Given the description of an element on the screen output the (x, y) to click on. 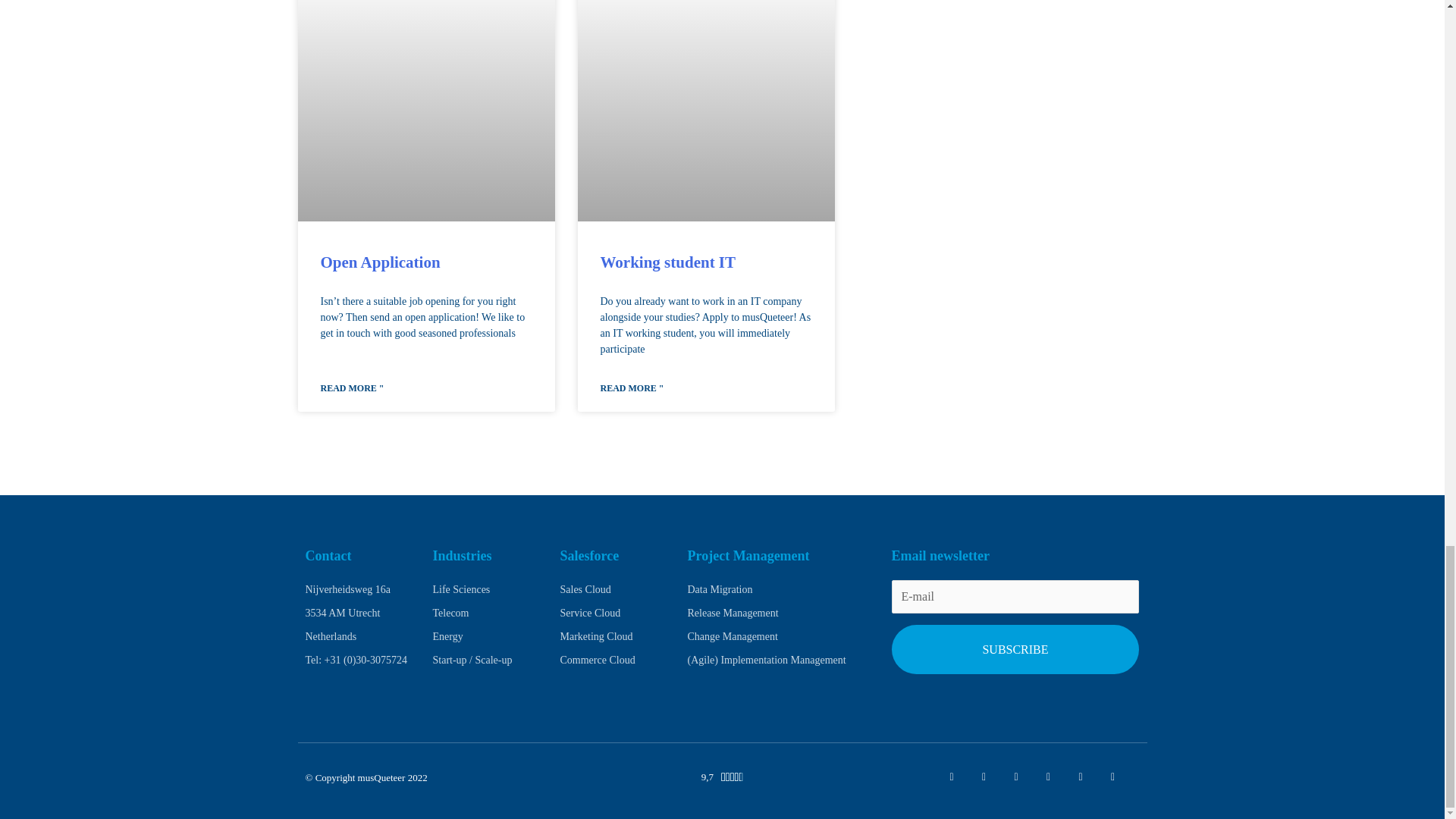
SUBSCRIBE (1015, 649)
READ MORE " (352, 388)
E-mail (1015, 596)
Open Application (379, 262)
Working student IT (667, 262)
